Given the description of an element on the screen output the (x, y) to click on. 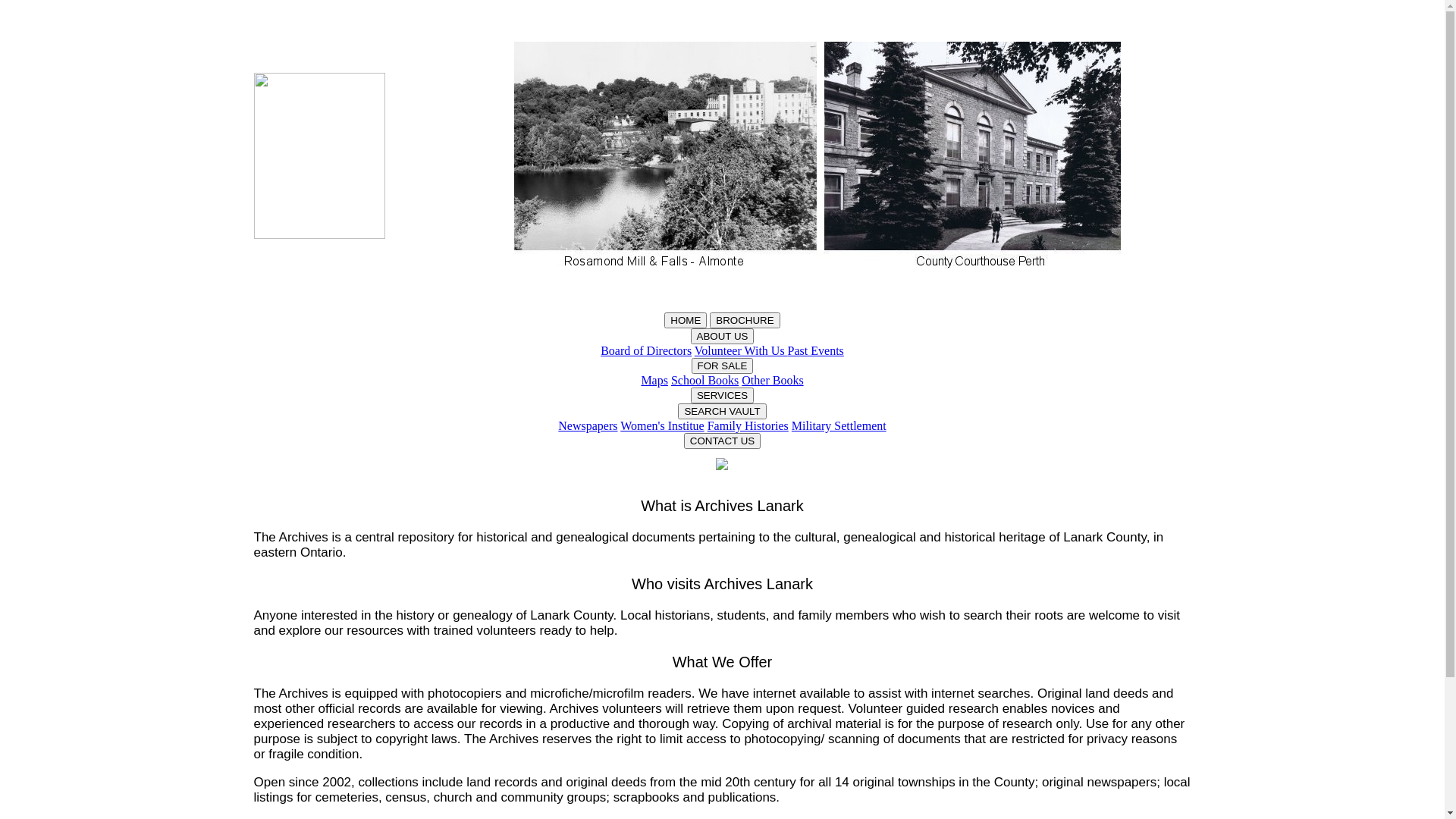
FOR SALE Element type: text (722, 365)
Military Settlement Element type: text (838, 425)
Board of Directors Element type: text (645, 350)
Women's Institue Element type: text (661, 425)
SERVICES Element type: text (721, 395)
Maps Element type: text (654, 379)
HOME Element type: text (685, 320)
School Books Element type: text (704, 379)
Volunteer With Us Element type: text (740, 350)
ABOUT US Element type: text (722, 336)
Past Events Element type: text (815, 350)
Newspapers Element type: text (587, 425)
Other Books Element type: text (772, 379)
Family Histories Element type: text (747, 425)
CONTACT US Element type: text (722, 440)
SEARCH VAULT Element type: text (721, 411)
BROCHURE Element type: text (744, 320)
